Given the description of an element on the screen output the (x, y) to click on. 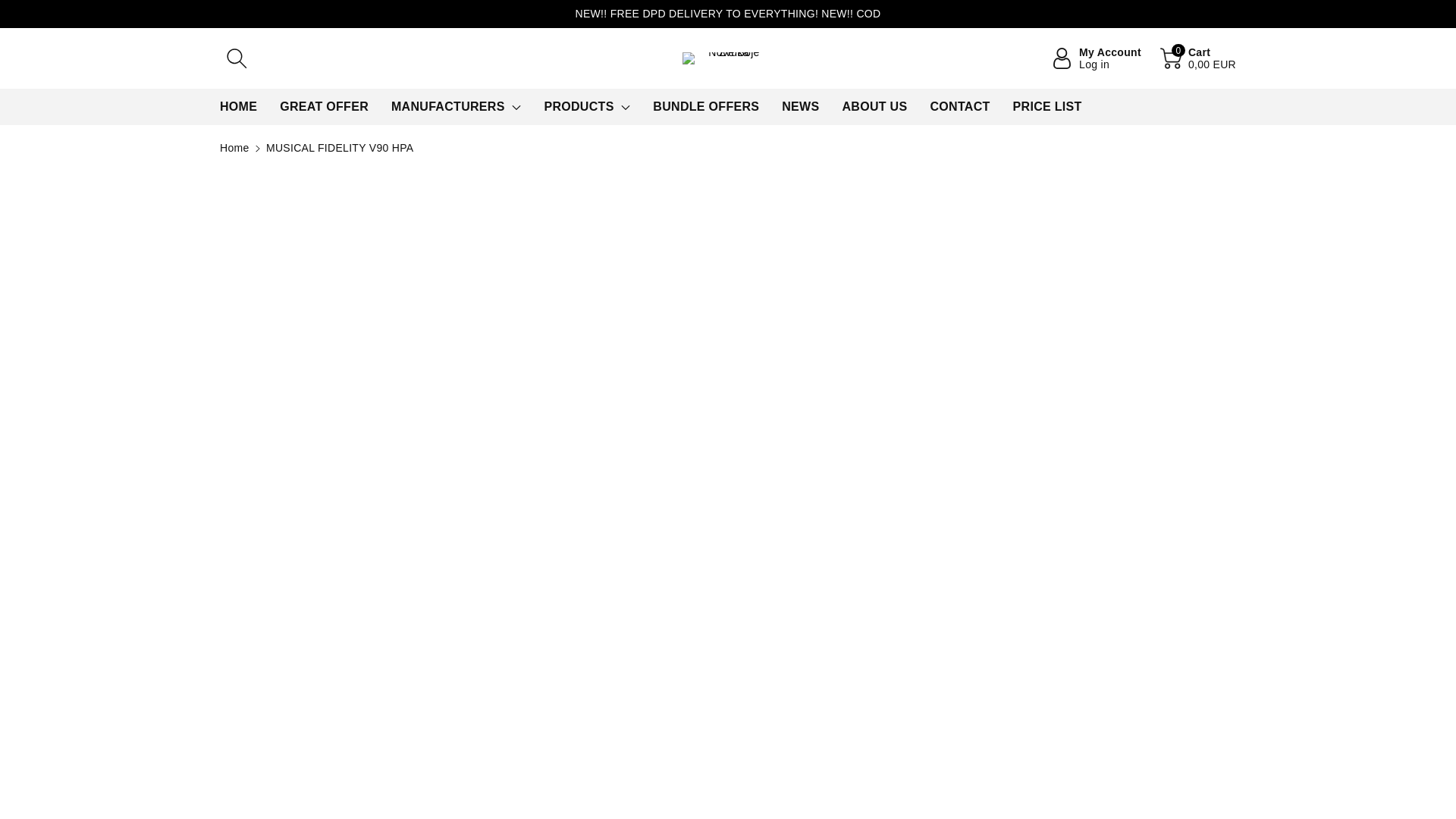
Skip To Content (8, 8)
Home (233, 147)
NEW!! FREE DPD DELIVERY TO EVERYTHING! NEW!! COD (727, 13)
